Given the description of an element on the screen output the (x, y) to click on. 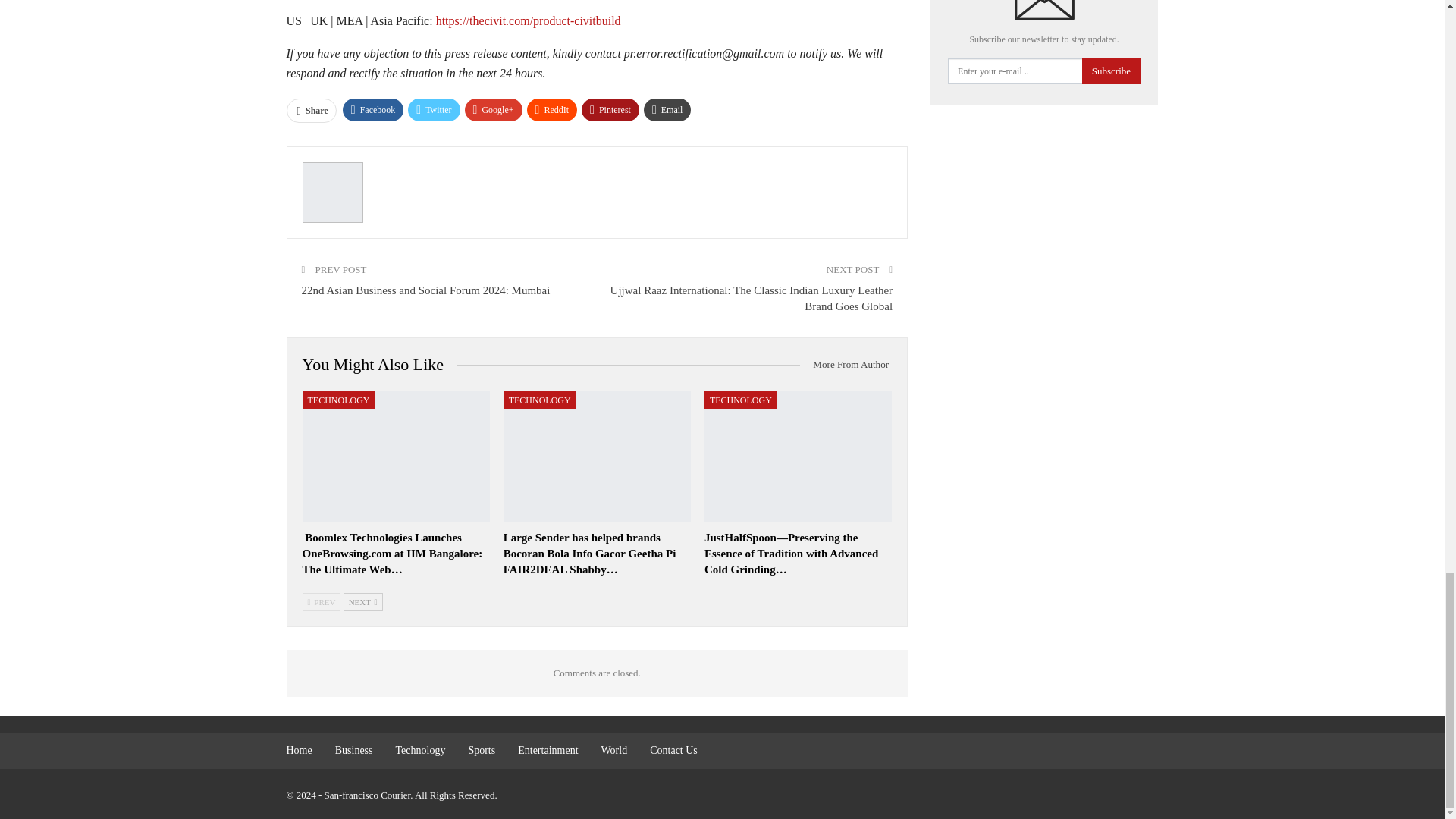
Previous (320, 601)
ReddIt (552, 109)
Twitter (433, 109)
Next (362, 601)
Facebook (373, 109)
